Given the description of an element on the screen output the (x, y) to click on. 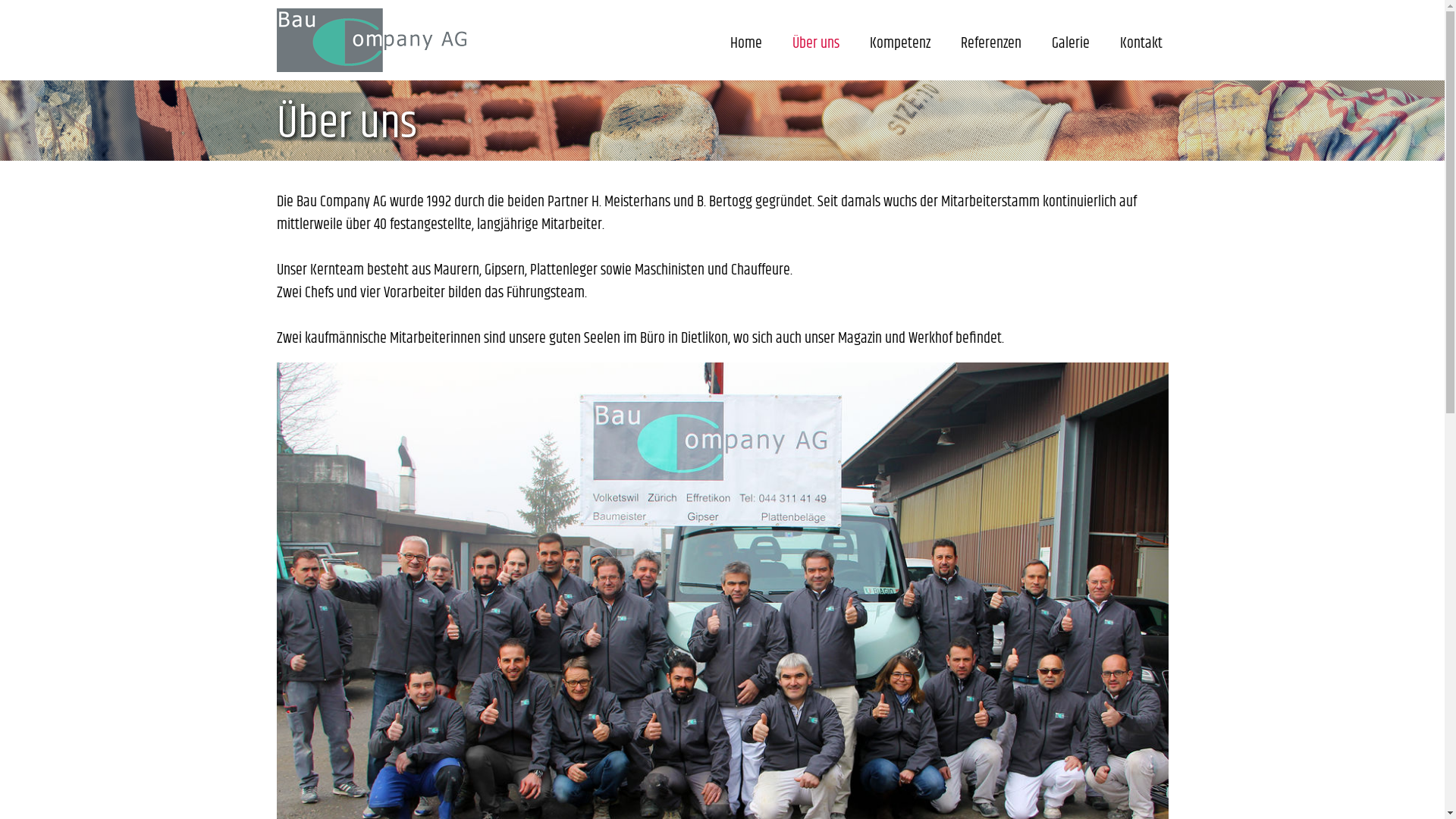
Galerie Element type: text (1069, 43)
Home Element type: text (745, 43)
Referenzen Element type: text (989, 43)
Kompetenz Element type: text (898, 43)
Kontakt Element type: text (1140, 43)
